Given the description of an element on the screen output the (x, y) to click on. 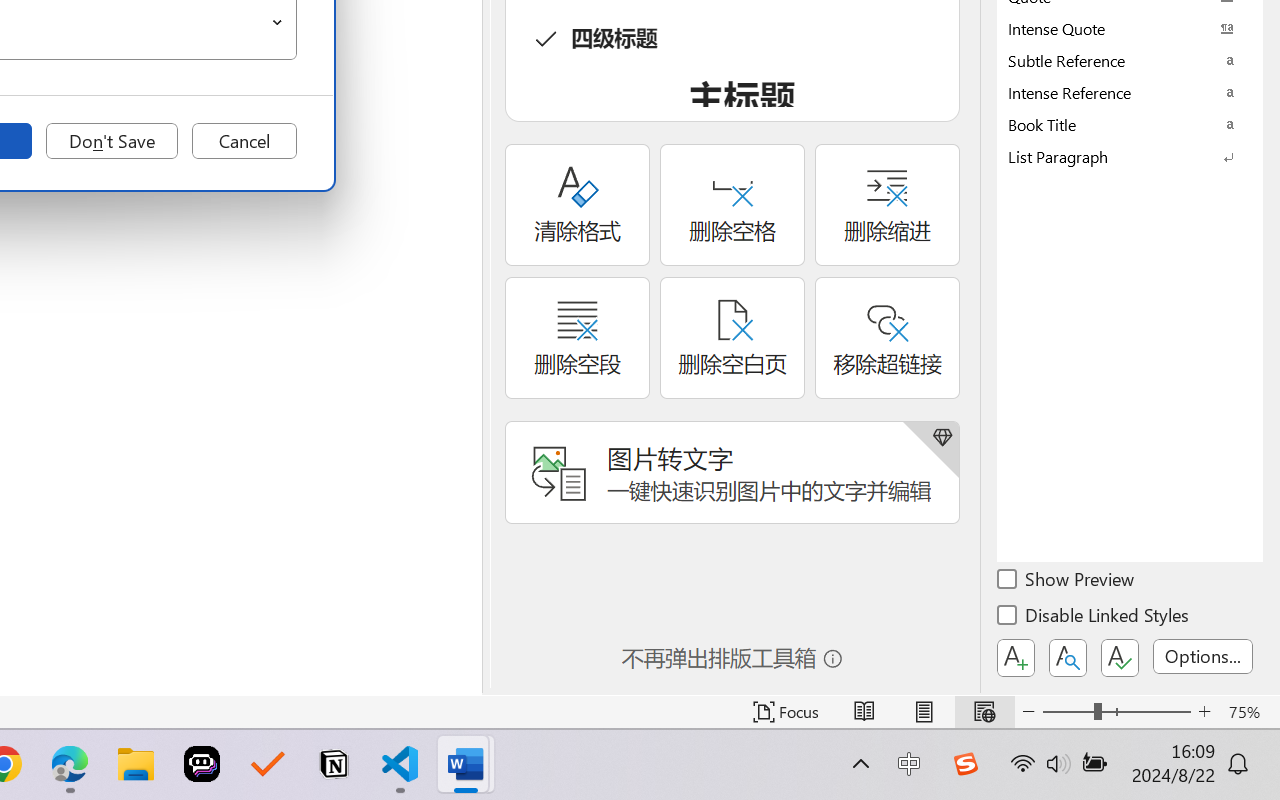
Show Preview (1067, 582)
Class: Image (965, 764)
Disable Linked Styles (1094, 618)
Intense Quote (1130, 28)
Read Mode (864, 712)
Intense Reference (1130, 92)
Class: NetUIButton (1119, 657)
